Given the description of an element on the screen output the (x, y) to click on. 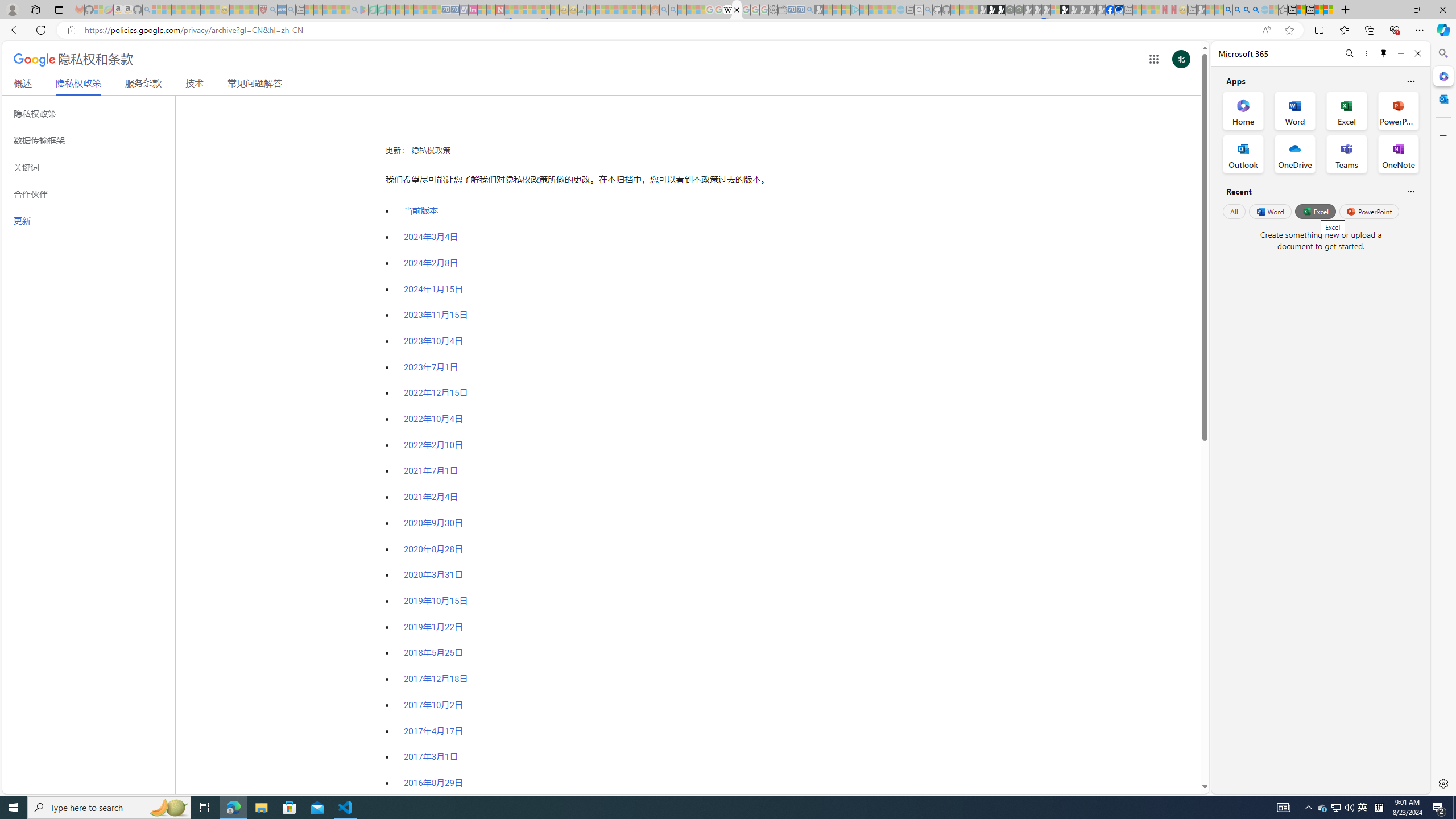
Microsoft account | Privacy (1328, 9)
Unpin side pane (1383, 53)
MSN - Sleeping (1200, 9)
